Given the description of an element on the screen output the (x, y) to click on. 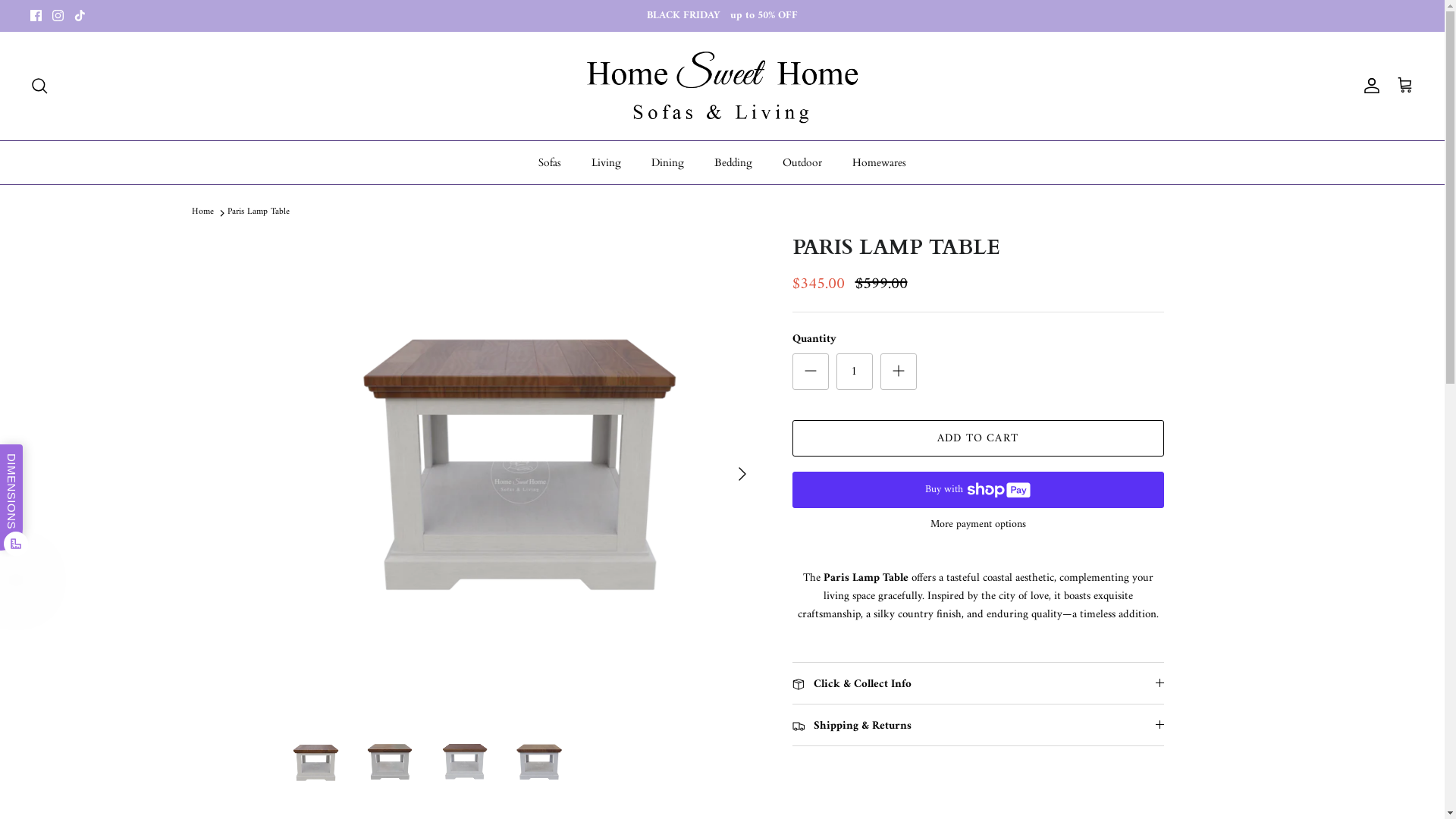
Homewares Element type: text (878, 162)
Living Element type: text (605, 162)
Cart Element type: text (1405, 85)
Bedding Element type: text (732, 162)
Home Sweet Home Sofas & Living Element type: hover (721, 86)
Instagram Element type: text (57, 15)
Search Element type: text (39, 85)
Facebook Element type: text (35, 15)
Account Element type: text (1368, 85)
ADD TO CART Element type: text (977, 438)
Dining Element type: text (667, 162)
Outdoor Element type: text (801, 162)
Plus Element type: text (897, 371)
More payment options Element type: text (977, 524)
Paris Lamp Table Element type: text (258, 211)
RIGHT Element type: text (741, 473)
Sofas Element type: text (549, 162)
Home Element type: text (202, 211)
Minus Element type: text (809, 371)
